Given the description of an element on the screen output the (x, y) to click on. 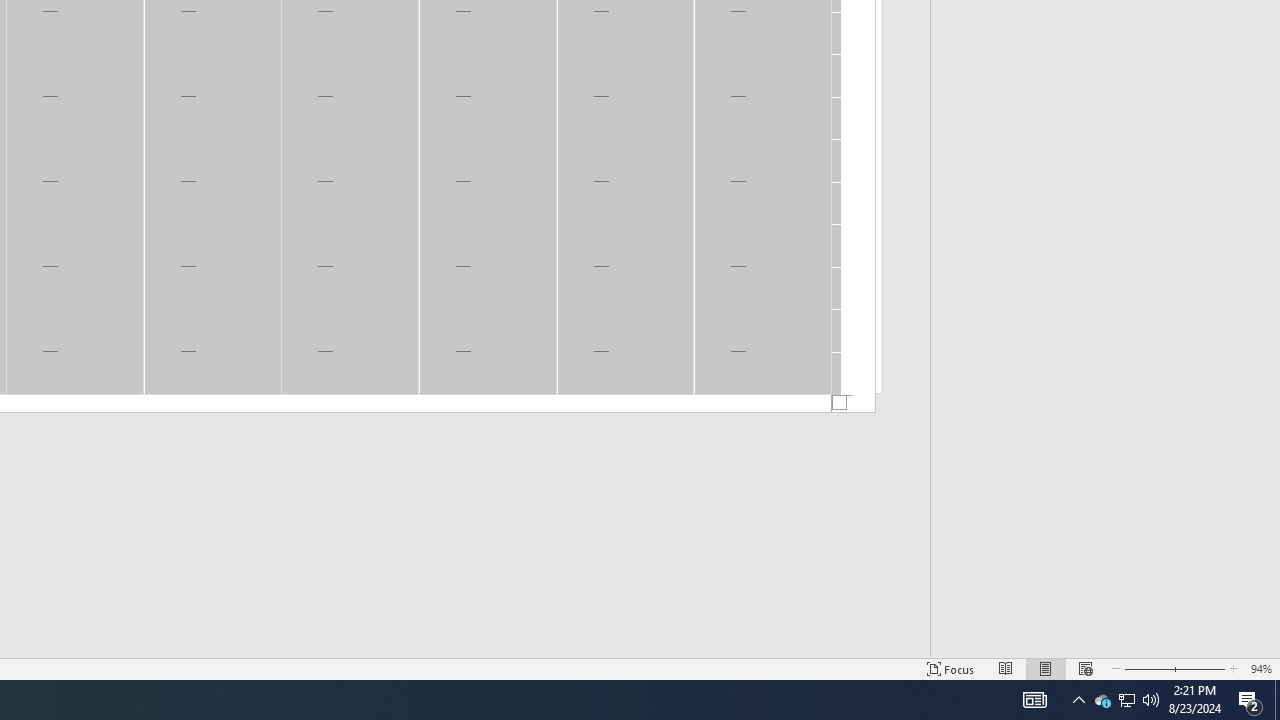
Read Mode (1005, 668)
Focus  (951, 668)
